Given the description of an element on the screen output the (x, y) to click on. 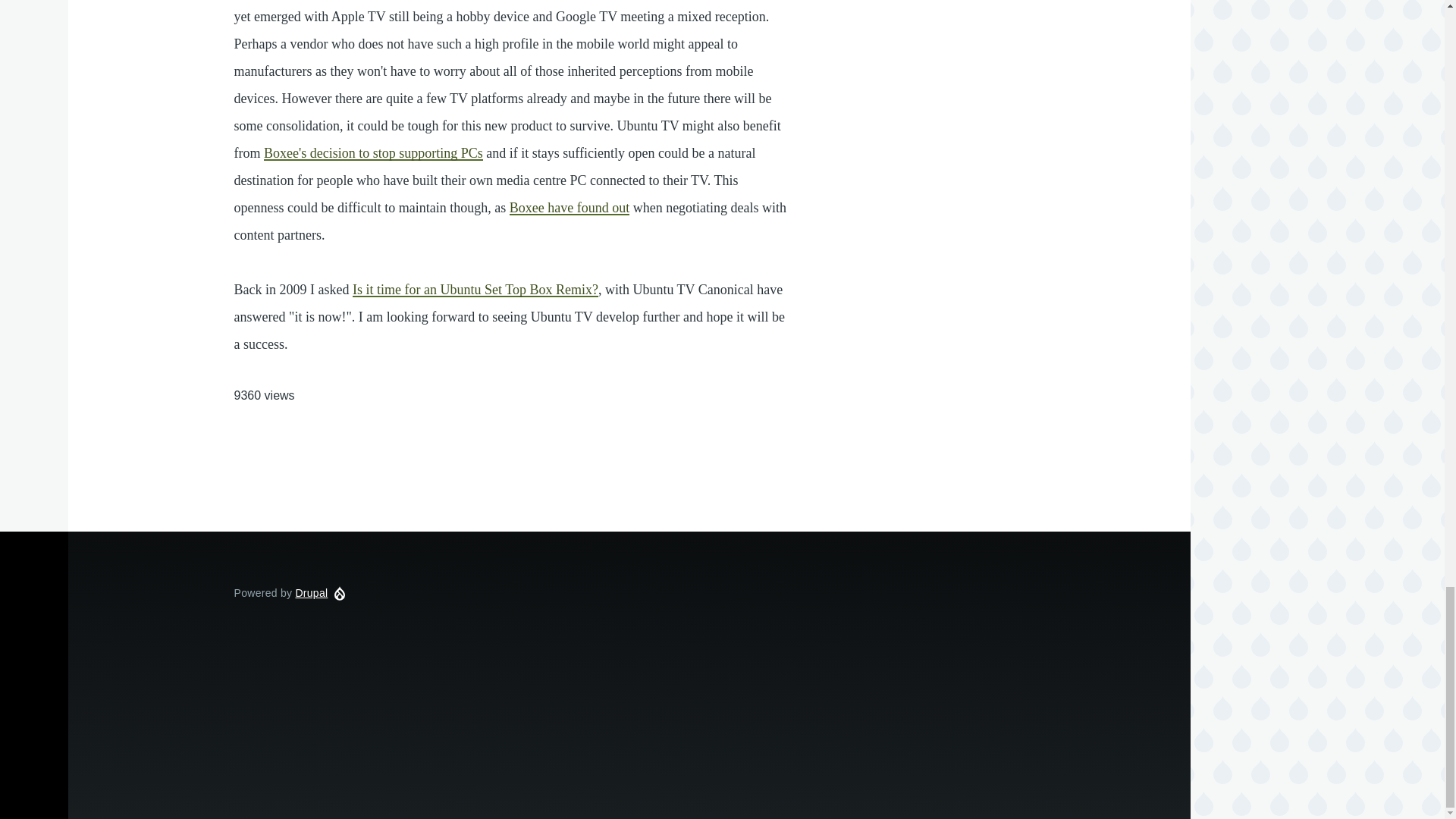
Boxee have found out (568, 207)
Is it time for an Ubuntu Set Top Box Remix? (475, 289)
Drupal (311, 592)
Boxee's decision to stop supporting PCs (373, 152)
